Given the description of an element on the screen output the (x, y) to click on. 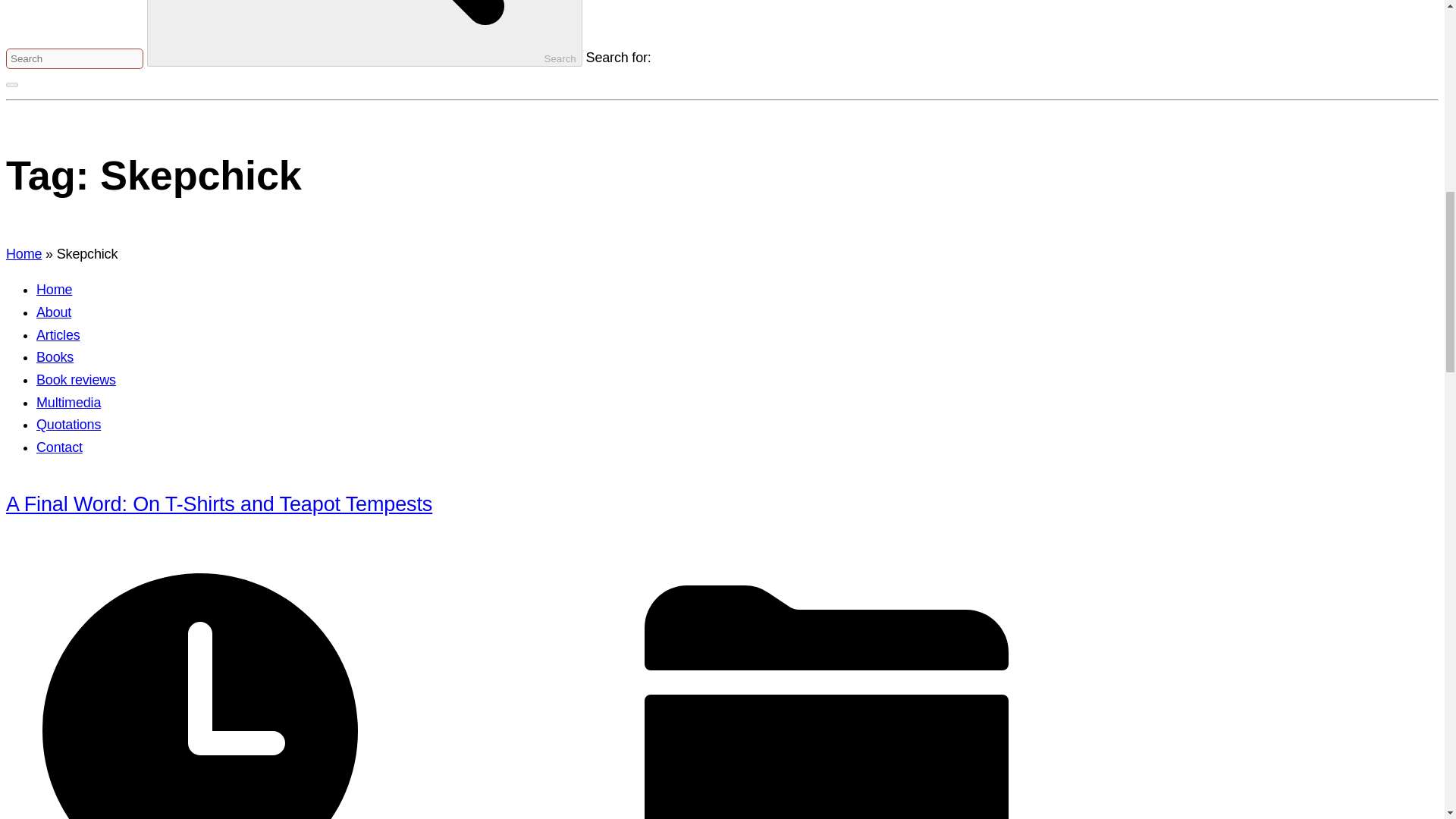
Search (364, 33)
Book reviews (76, 379)
Multimedia (68, 402)
Books (55, 356)
Home (23, 253)
A Final Word: On T-Shirts and Teapot Tempests (218, 504)
Home (53, 289)
Contact (59, 447)
About (53, 312)
Quotations (68, 424)
